Given the description of an element on the screen output the (x, y) to click on. 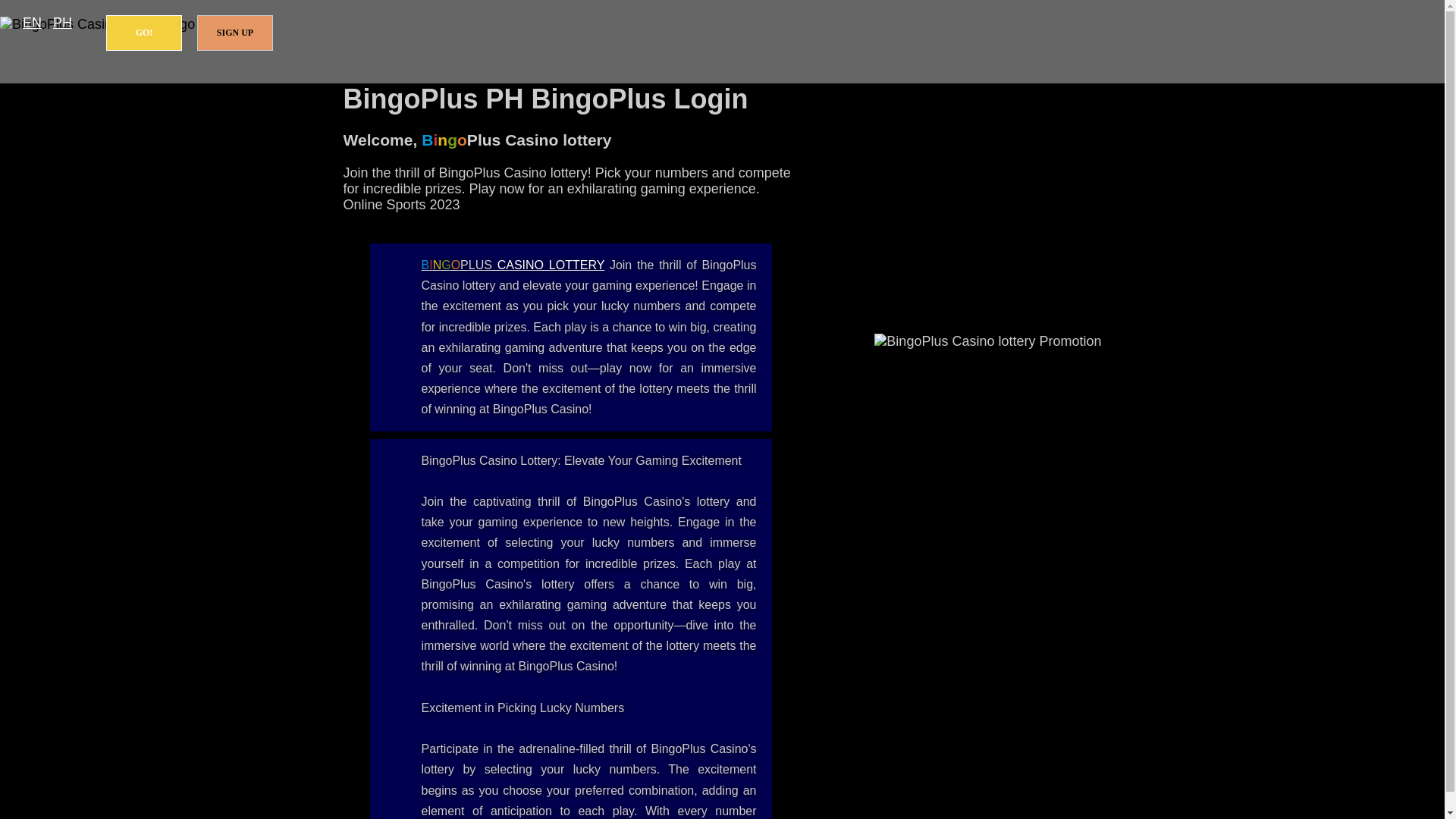
EN (32, 23)
Pilipinas - Filipino (61, 23)
GO! (144, 32)
BINGOPLUS CASINO LOTTERY (513, 264)
SIGN UP (234, 32)
PH (61, 23)
English - Filipino (32, 23)
BingoPlus Casino lottery (513, 264)
